Given the description of an element on the screen output the (x, y) to click on. 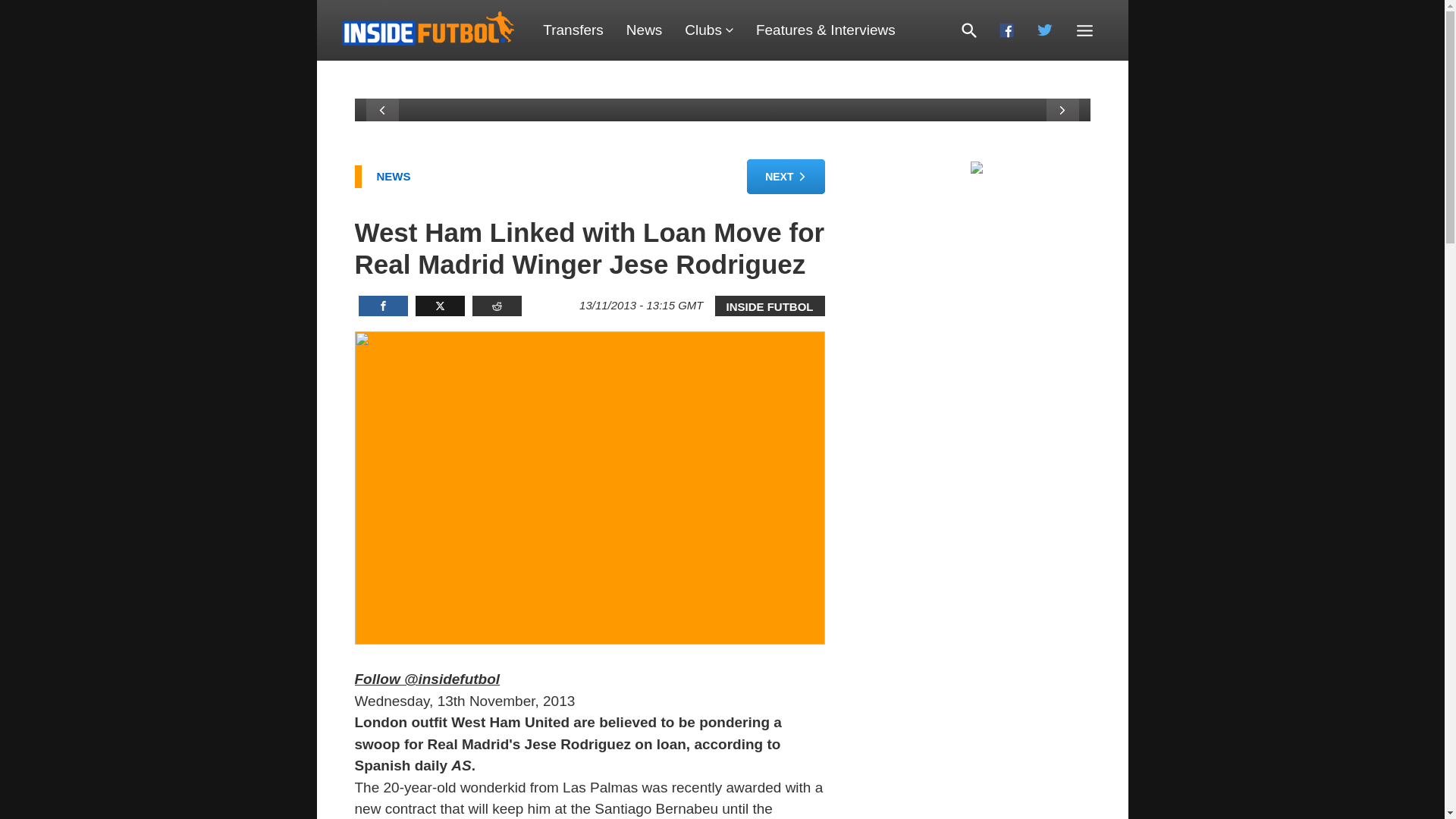
Transfers (572, 30)
News (644, 30)
Clubs (708, 30)
